Given the description of an element on the screen output the (x, y) to click on. 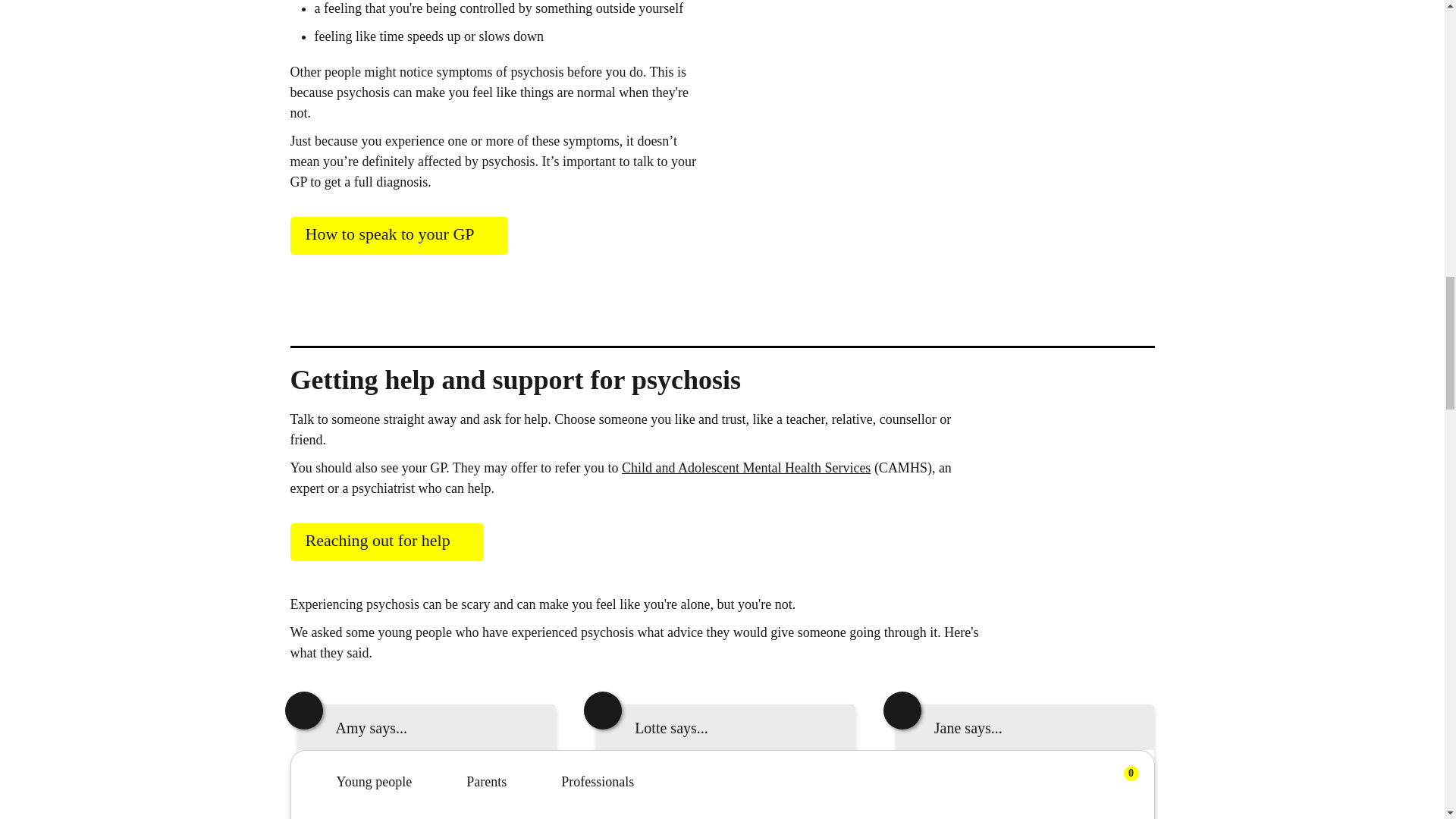
How to speak to your GP (397, 235)
Child and Adolescent Mental Health Services (745, 467)
Reaching out for help (386, 542)
Guide to CAMHS (745, 467)
